Given the description of an element on the screen output the (x, y) to click on. 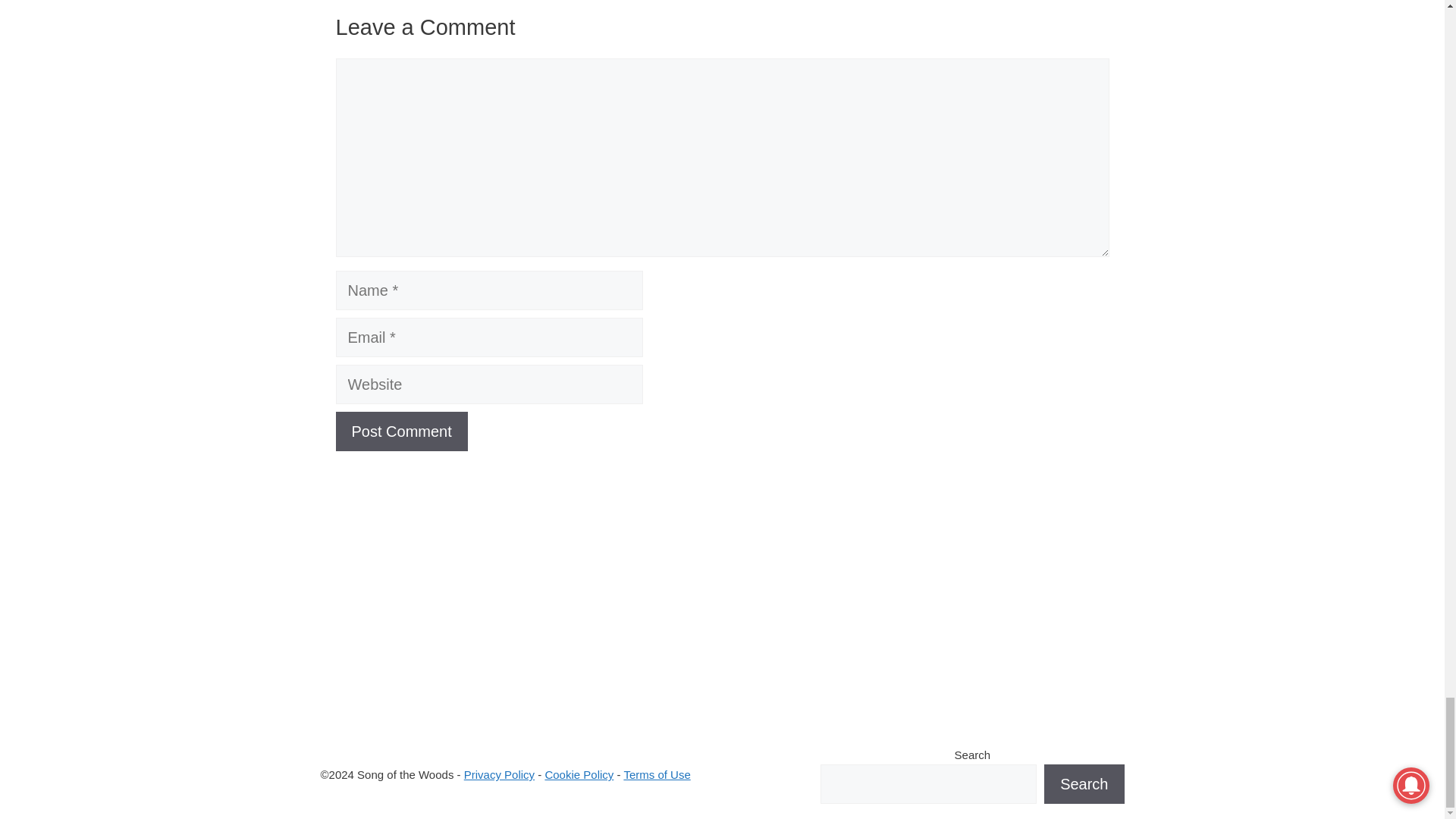
Post Comment (400, 431)
